Given the description of an element on the screen output the (x, y) to click on. 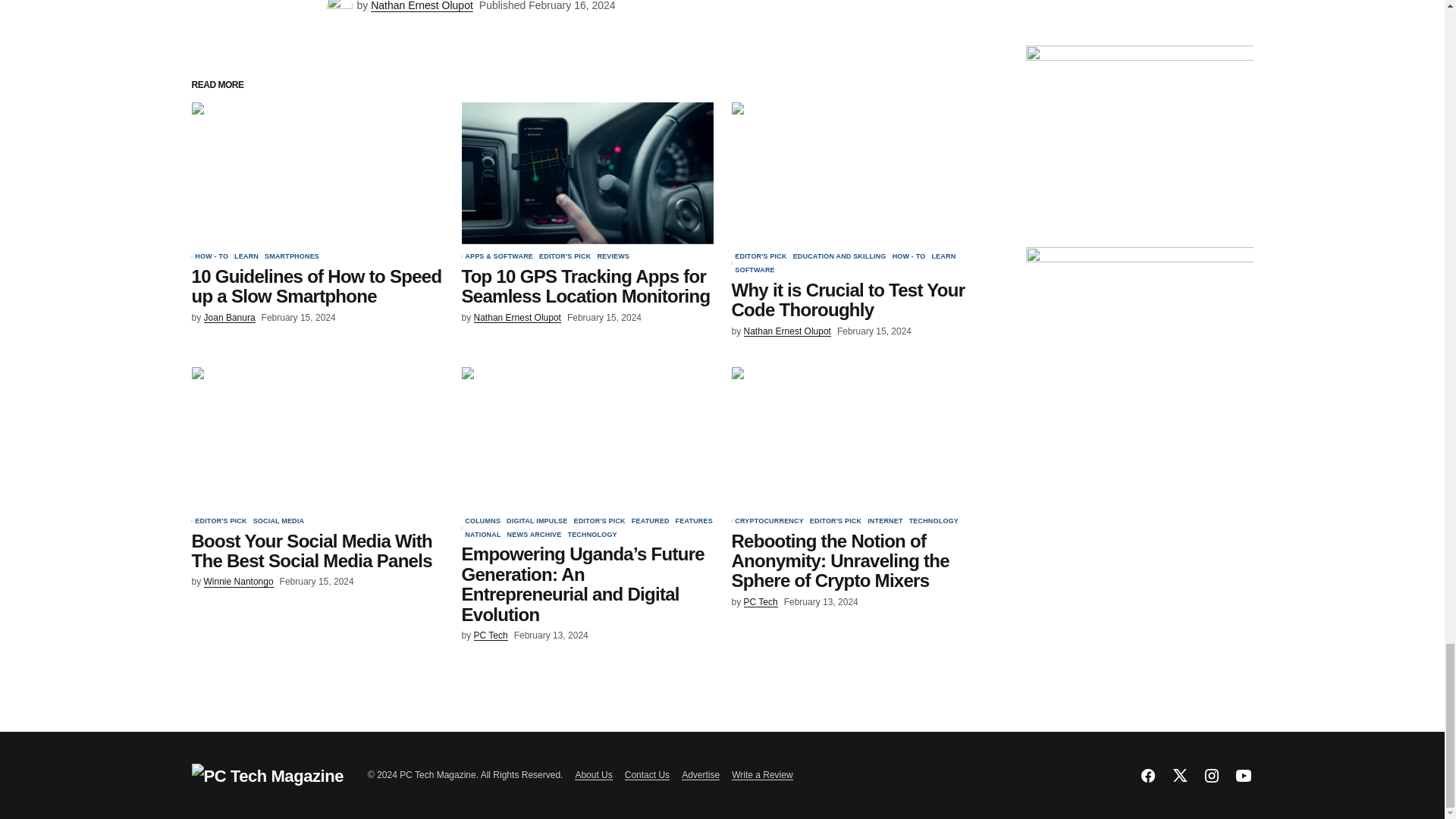
10 Guidelines of How to Speed up a Slow Smartphone (316, 173)
Why it is Crucial to Test Your Code Thoroughly (856, 173)
Boost Your Social Media With The Best Social Media Panels (316, 437)
Top 10 GPS Tracking Apps for Seamless Location Monitoring (587, 173)
